Given the description of an element on the screen output the (x, y) to click on. 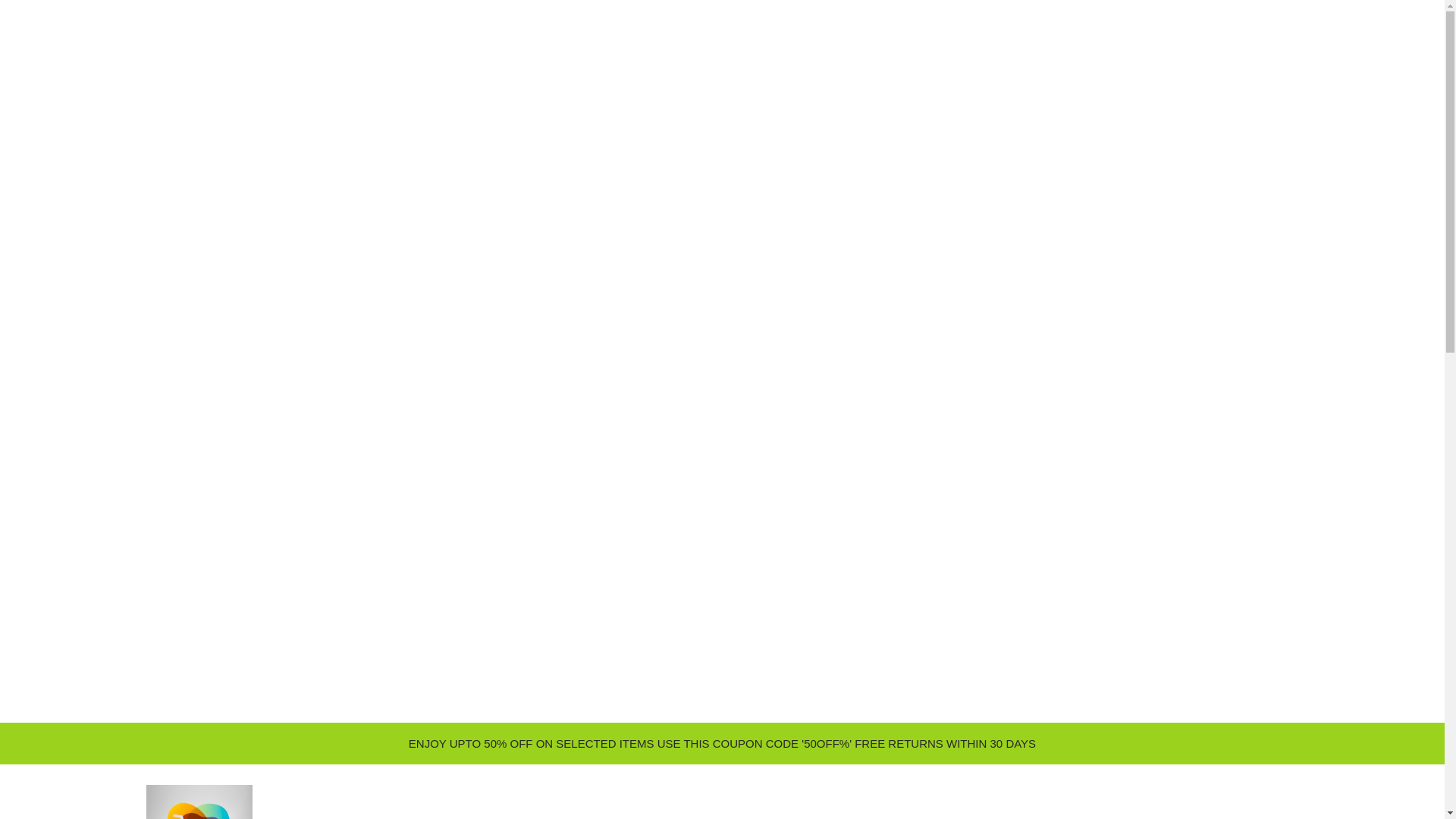
Furniture (619, 816)
Home (556, 816)
Decor (681, 816)
Get Me Products (198, 801)
Kitchen (822, 816)
